Given the description of an element on the screen output the (x, y) to click on. 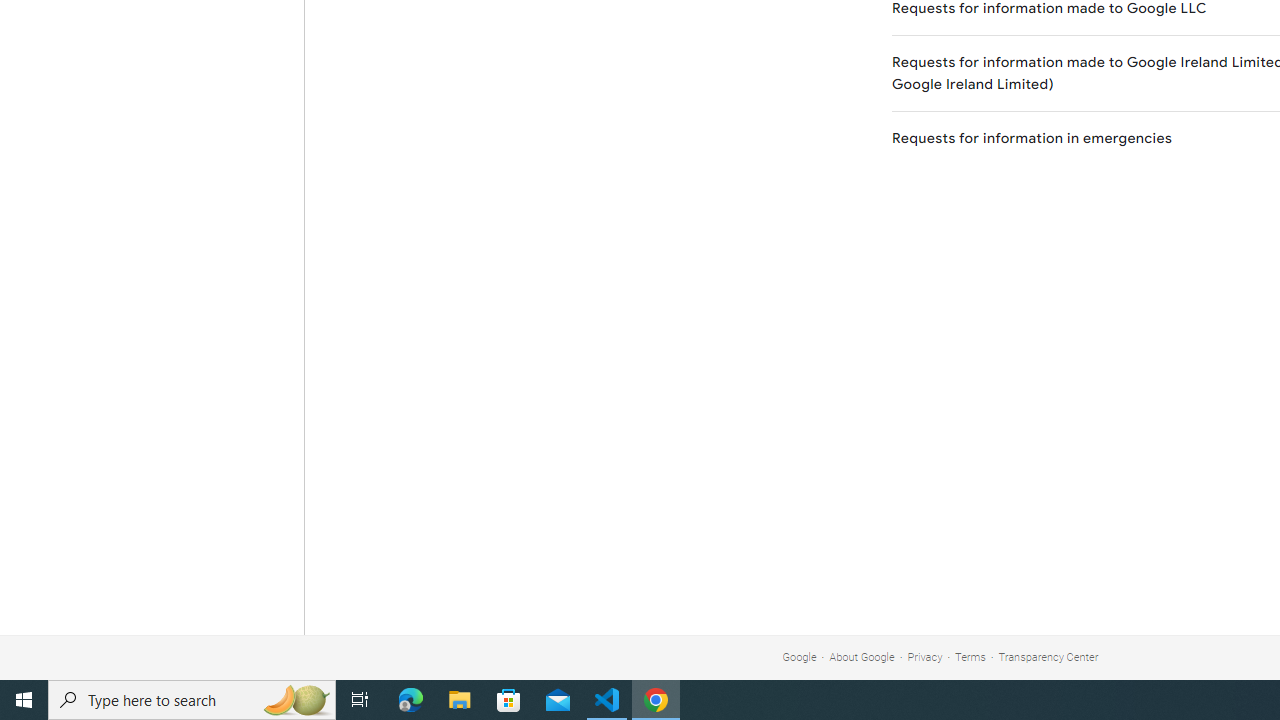
Transparency Center (1048, 656)
About Google (861, 656)
